Given the description of an element on the screen output the (x, y) to click on. 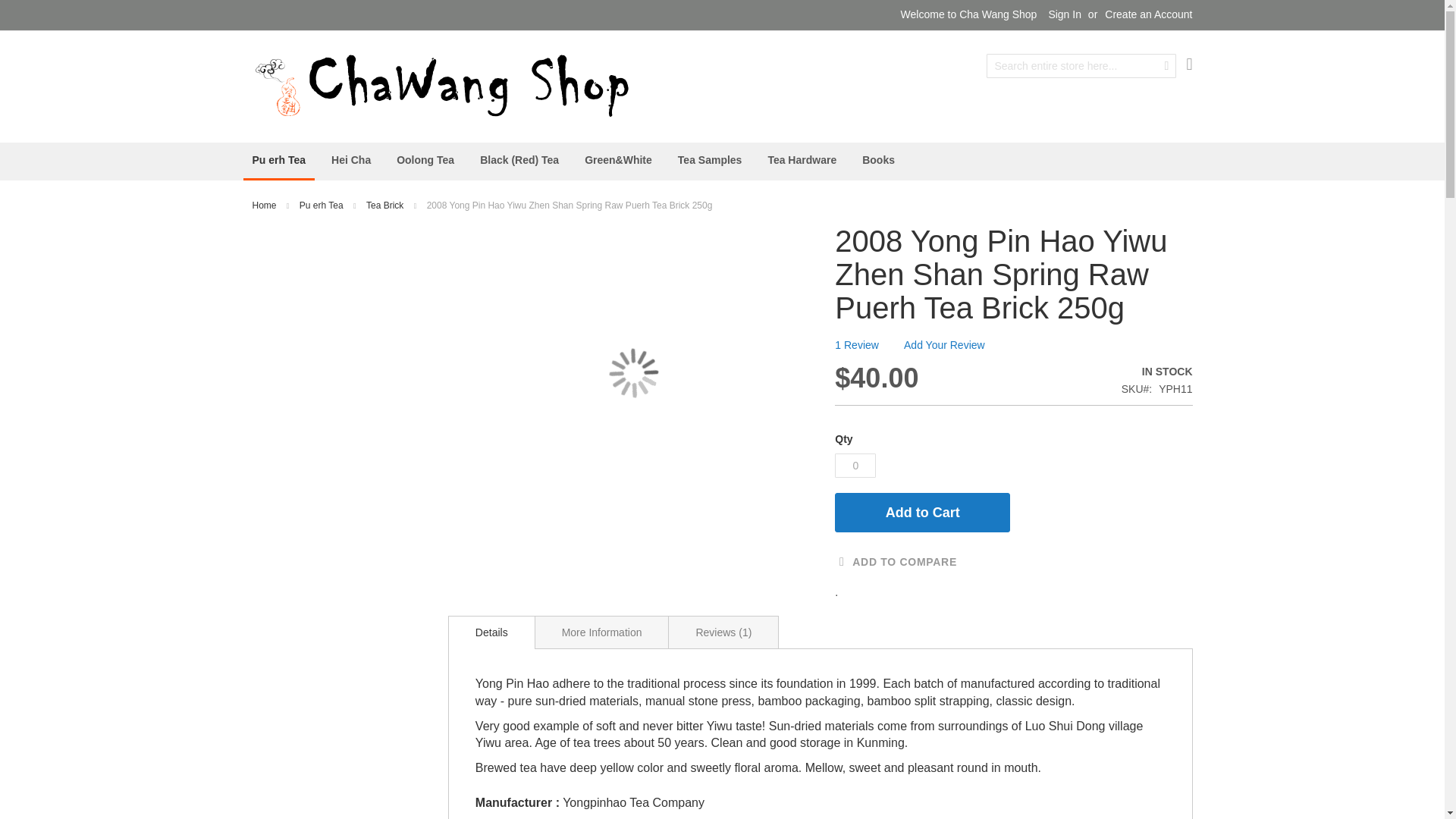
Oolong Tea (425, 159)
Cha Wang Shop (440, 85)
Hei Cha (350, 159)
Go to Home Page (264, 204)
Sign In (1064, 14)
Qty (855, 465)
Tea Hardware (801, 159)
Add to Cart (922, 512)
Tea Samples (709, 159)
Pu erh Tea (278, 161)
